Given the description of an element on the screen output the (x, y) to click on. 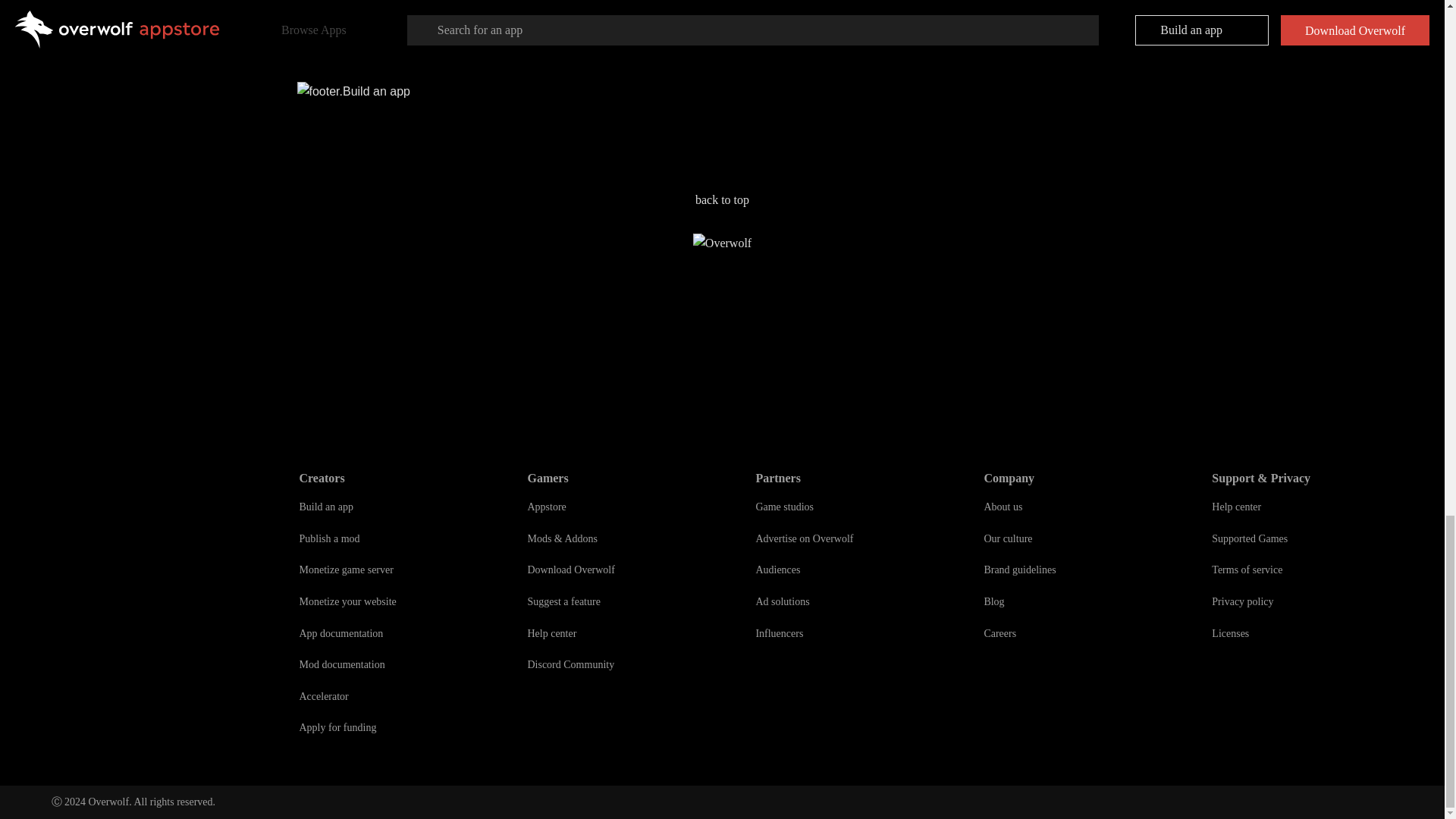
Facebook (1317, 802)
LinkedIn (1350, 802)
Twitter (1384, 802)
Reddit (1284, 802)
Discord (1250, 802)
